Given the description of an element on the screen output the (x, y) to click on. 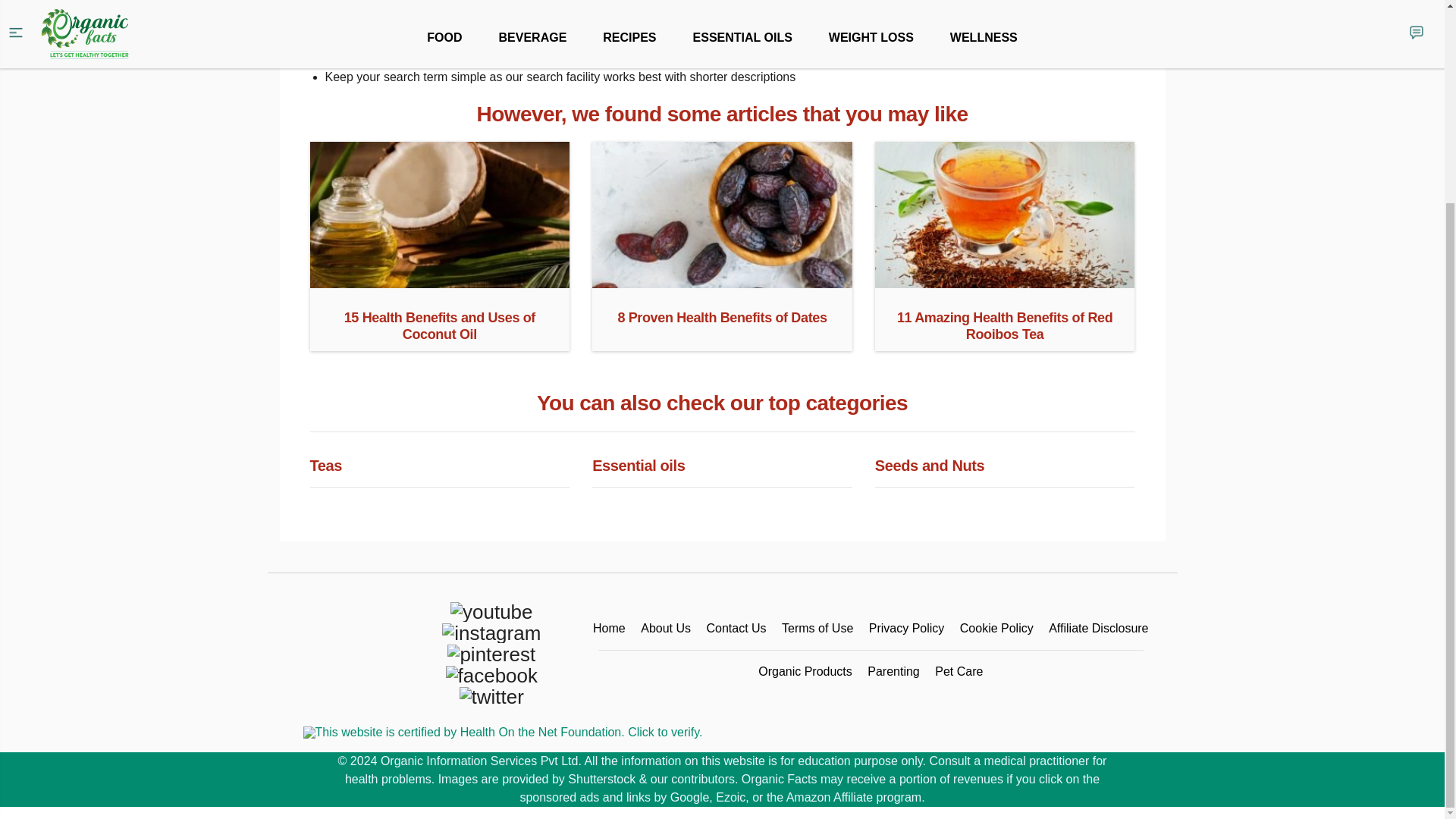
15 Health Benefits and Uses of Coconut Oil (438, 281)
Cookie Policy (996, 627)
Contact Us (735, 627)
11 Amazing Health Benefits of Red Rooibos Tea (1005, 281)
Privacy Policy (906, 627)
Pet Care (958, 671)
8 Proven Health Benefits of Dates (721, 281)
About Us (665, 627)
Parenting (893, 671)
